Given the description of an element on the screen output the (x, y) to click on. 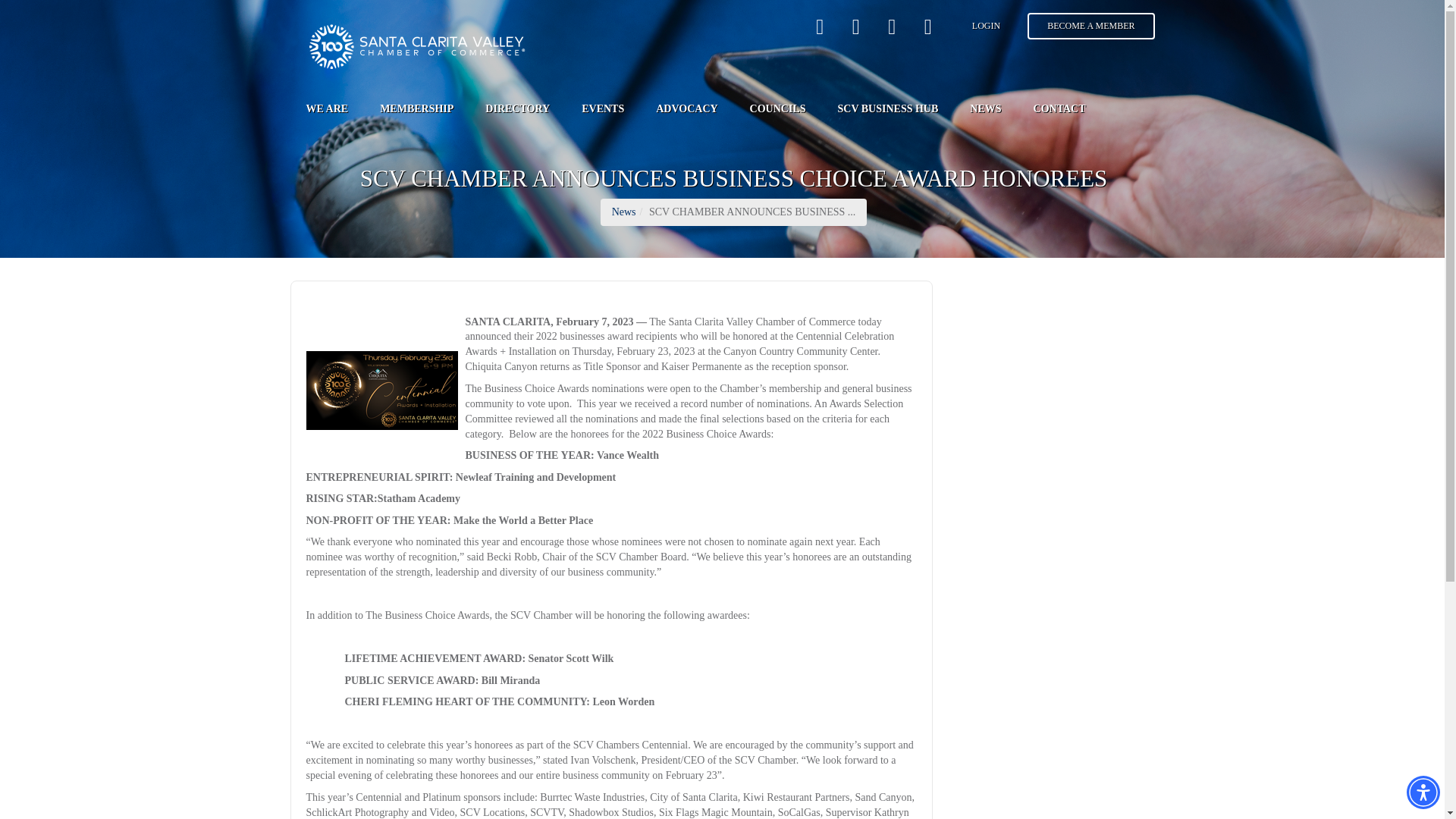
Accessibility Menu (1422, 792)
